Given the description of an element on the screen output the (x, y) to click on. 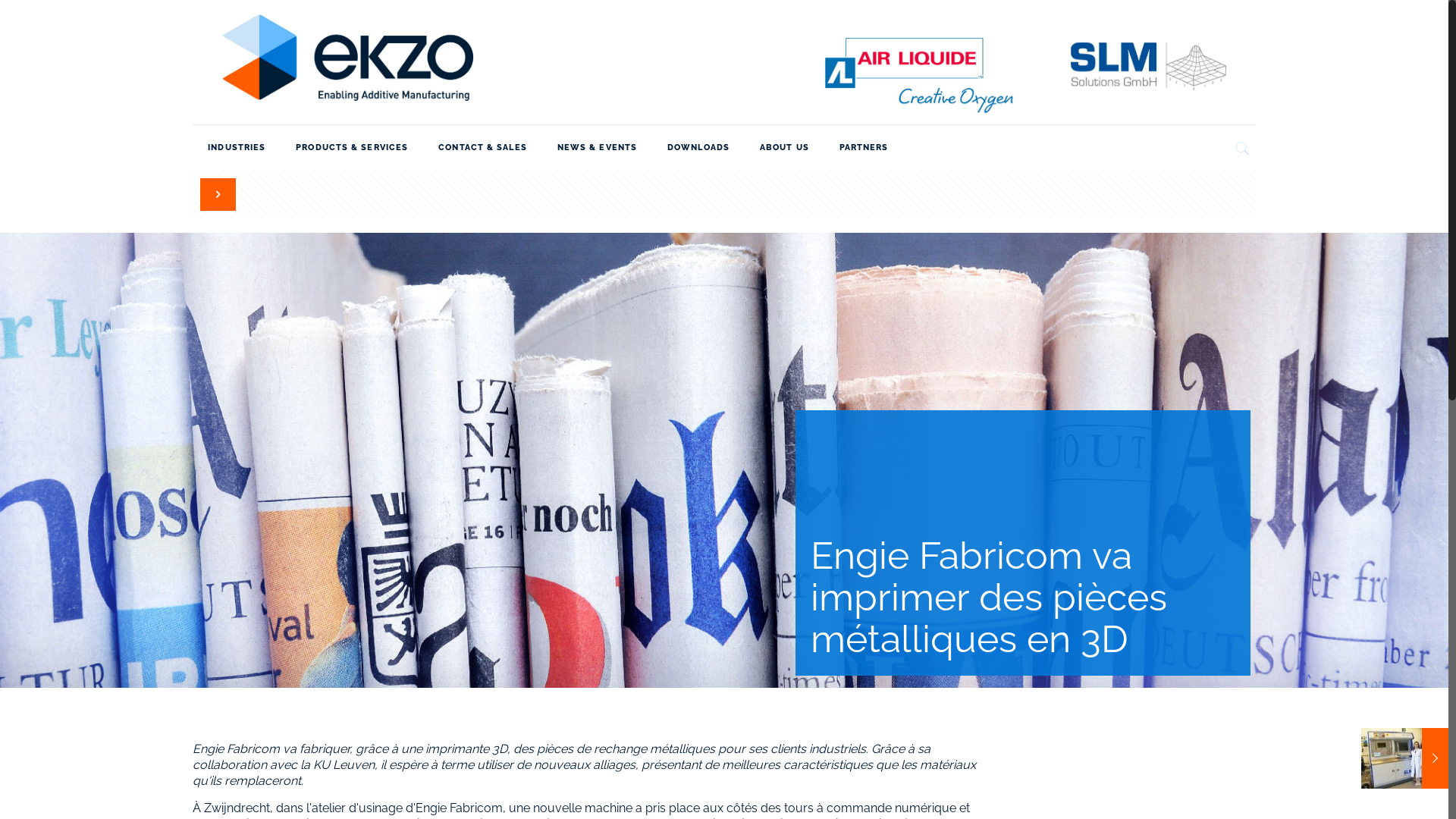
Log In Element type: text (225, 699)
PRODUCTS & SERVICES Element type: text (351, 147)
PARTNERS Element type: text (863, 147)
DOWNLOADS Element type: text (698, 147)
INDUSTRIES Element type: text (236, 147)
3D-print EKZO Element type: hover (723, 62)
CONTACT & SALES Element type: text (482, 147)
BigFish agency Element type: text (880, 786)
NEWS & EVENTS Element type: text (597, 147)
ABOUT US Element type: text (784, 147)
